Given the description of an element on the screen output the (x, y) to click on. 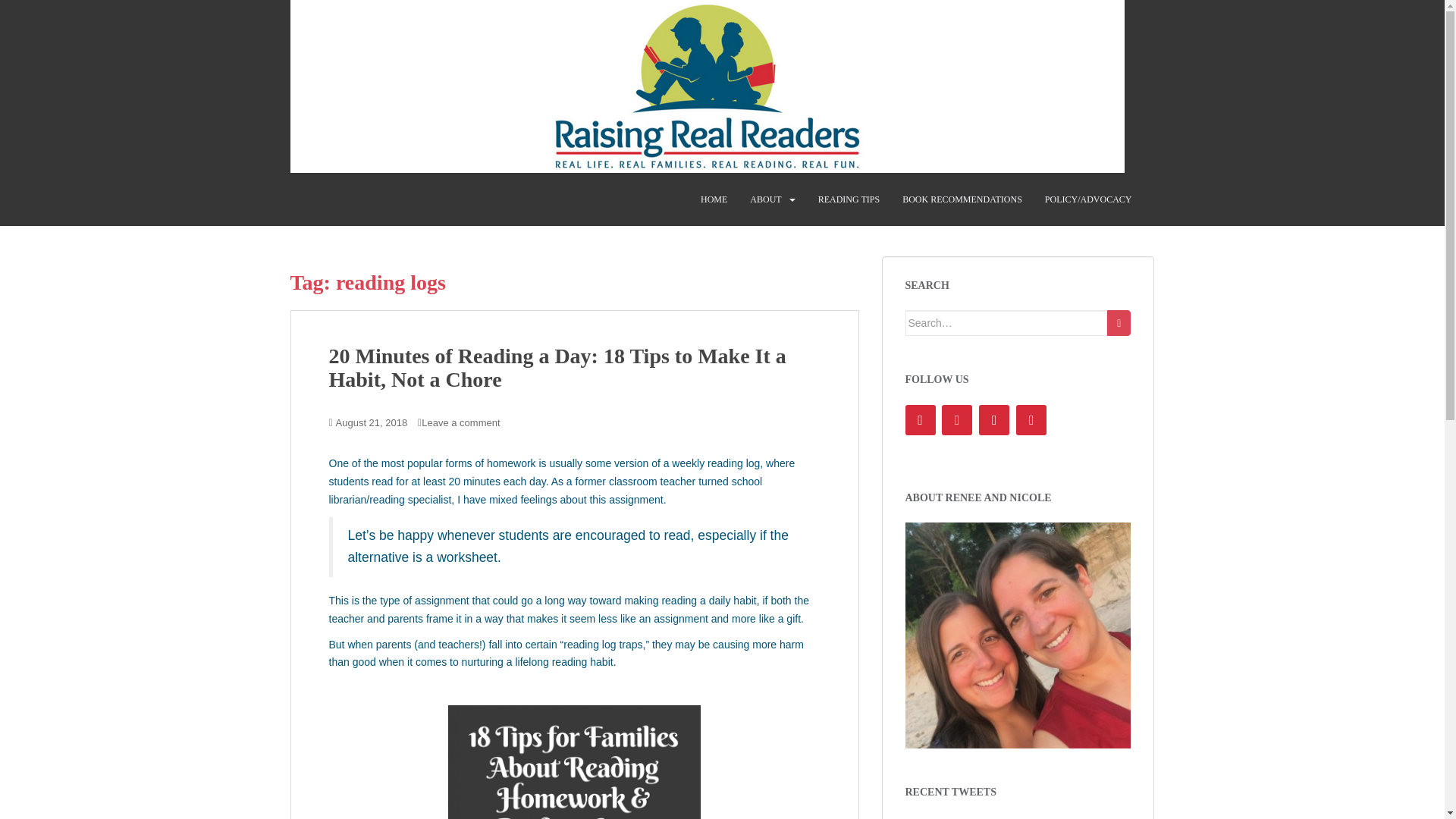
BOOK RECOMMENDATIONS (962, 199)
Search for: (1006, 322)
READING TIPS (848, 199)
ABOUT (764, 199)
Search (1118, 322)
Leave a comment (460, 422)
August 21, 2018 (371, 422)
